Given the description of an element on the screen output the (x, y) to click on. 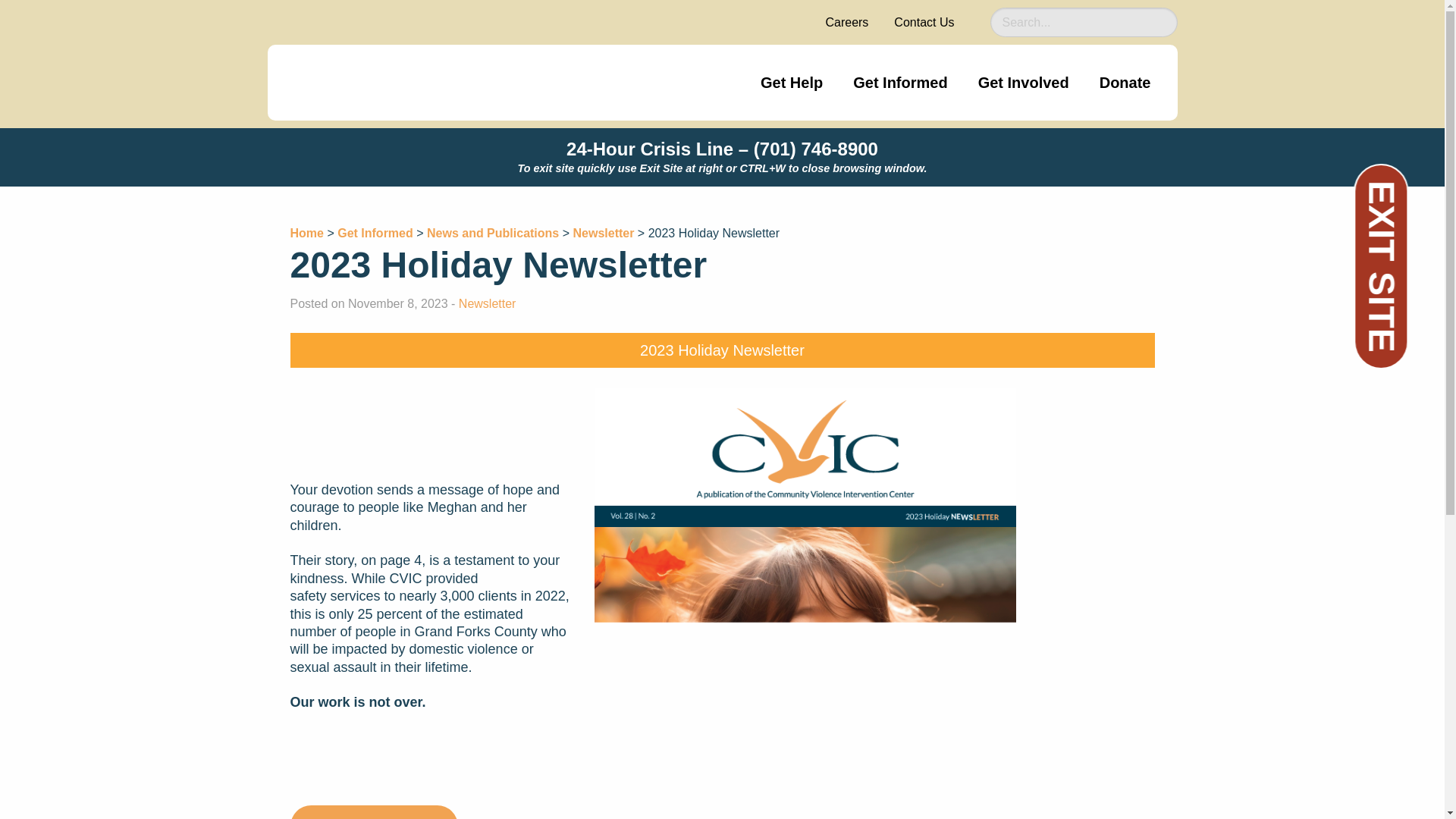
Go to the Newsletter category archives. (602, 232)
Search for: (1083, 21)
Go to News and Publications. (492, 232)
Search (1168, 22)
Contact Us (923, 22)
Go to CVIC. (306, 232)
Careers (846, 22)
Go to Get Informed. (375, 232)
